Given the description of an element on the screen output the (x, y) to click on. 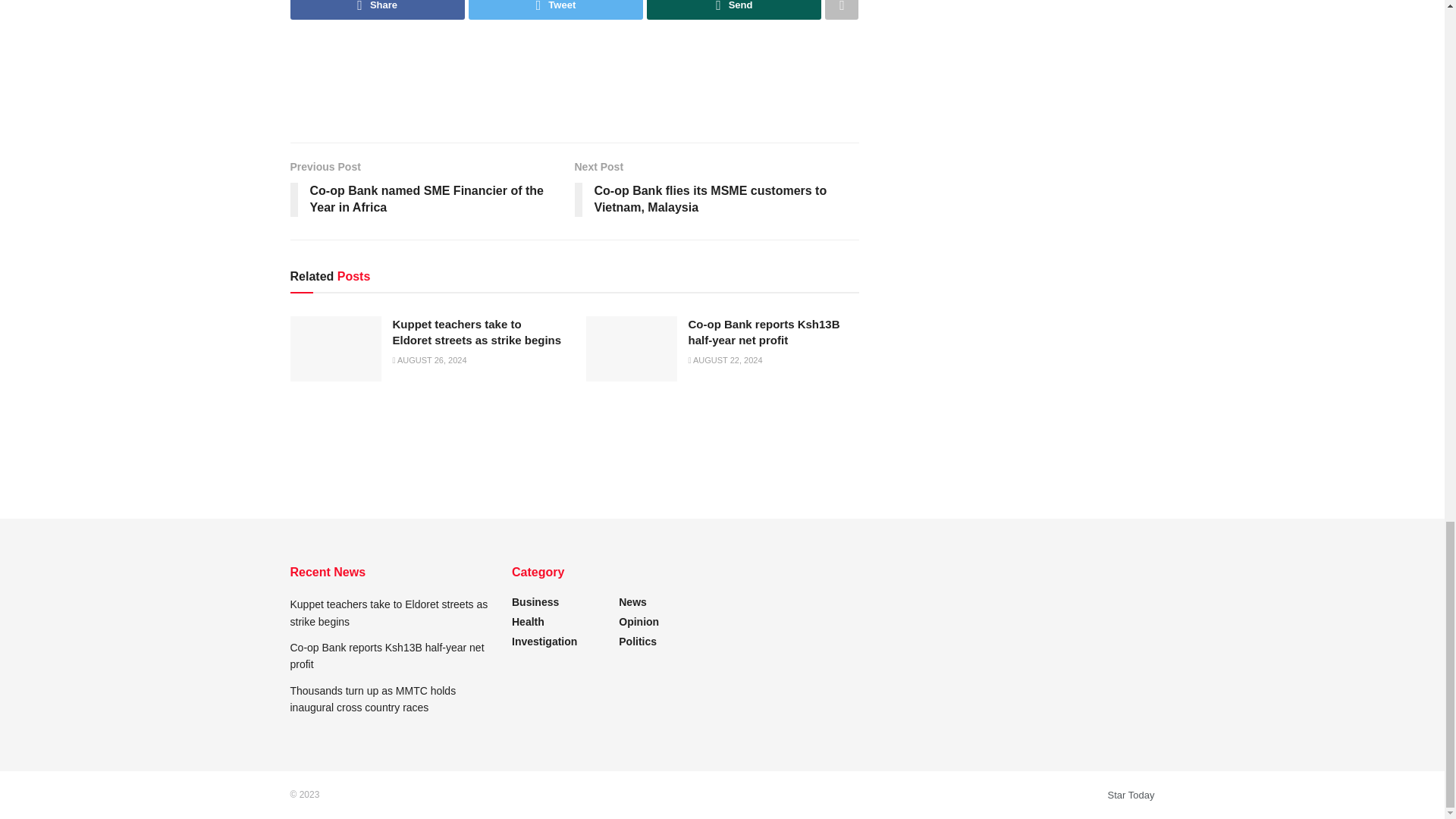
AUGUST 26, 2024 (430, 359)
Kuppet teachers take to Eldoret streets as strike begins (477, 331)
Send (733, 9)
Share (376, 9)
Tweet (555, 9)
Co-op Bank reports Ksh13B half-year net profit (764, 331)
